Given the description of an element on the screen output the (x, y) to click on. 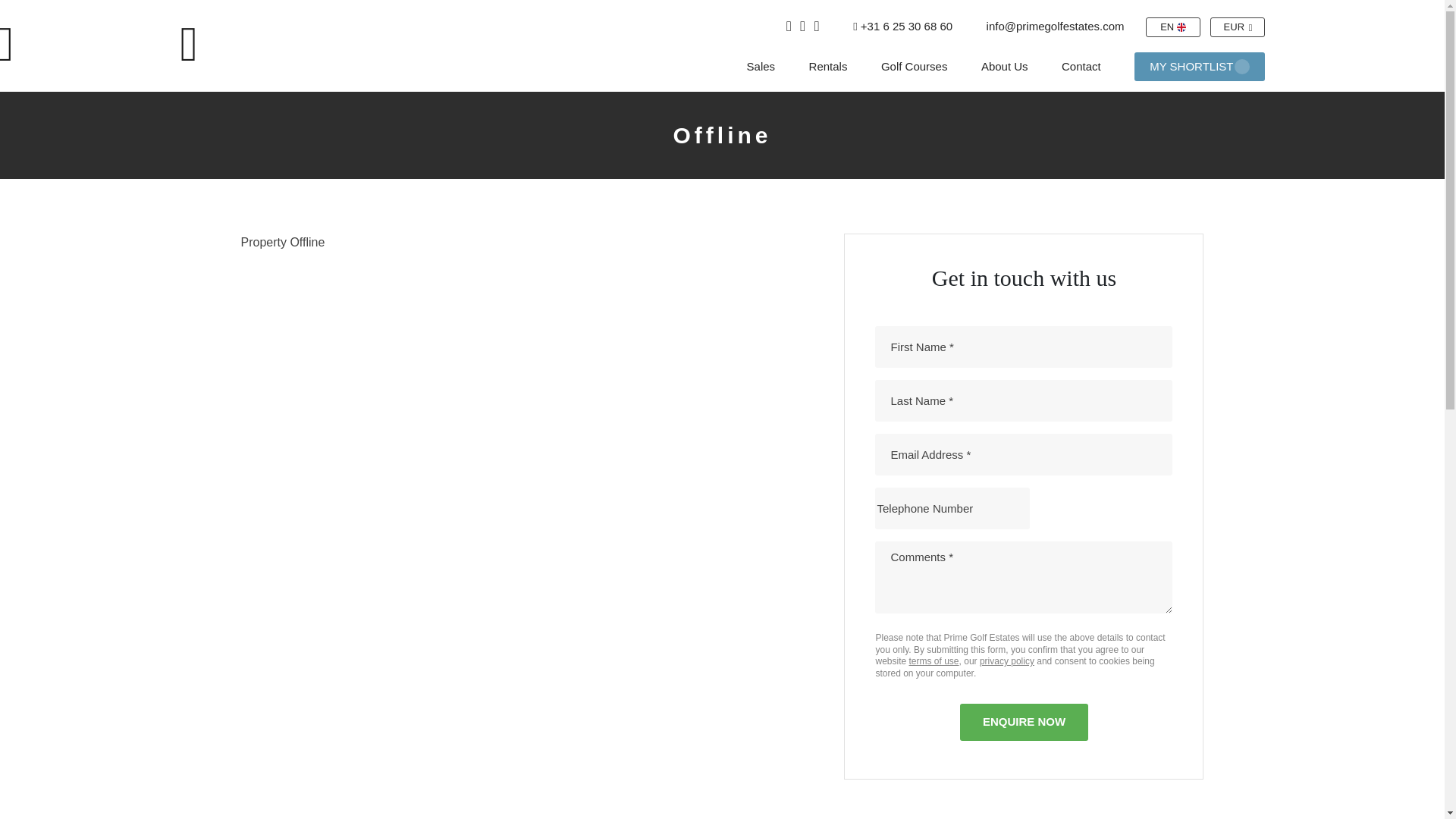
About Us (1004, 66)
EN (1172, 26)
Contact (1080, 66)
MY SHORTLIST (1198, 66)
EUR (1237, 26)
Rentals (828, 66)
Sales (761, 66)
Golf Courses (913, 66)
